Given the description of an element on the screen output the (x, y) to click on. 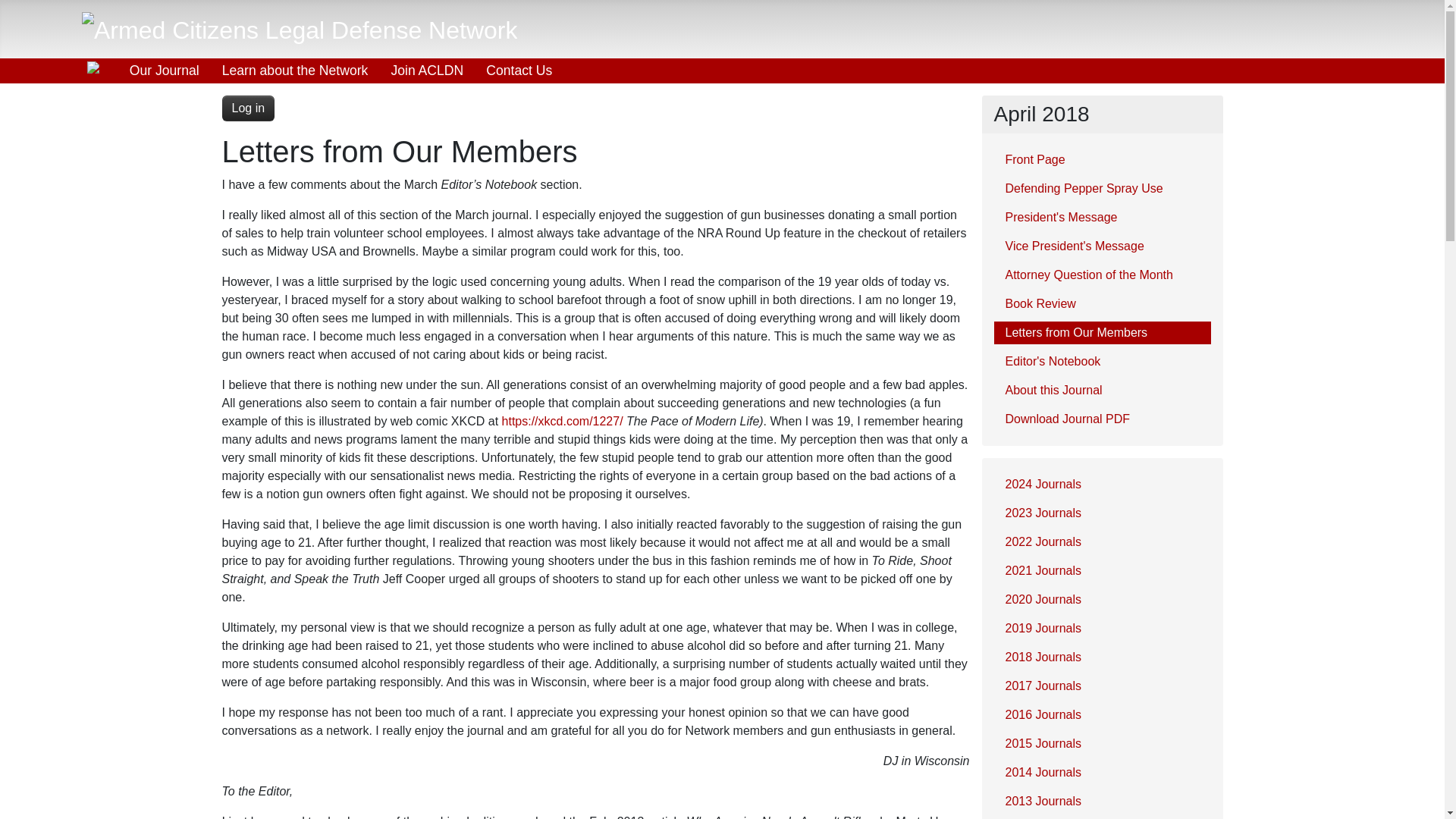
2016 Journals (1100, 714)
President's Message (1100, 217)
Log in (248, 108)
2021 Journals (1100, 570)
Learn about the Network (295, 70)
2014 Journals (1100, 772)
Editor's Notebook (1100, 361)
Our Journal (164, 70)
Join ACLDN (426, 70)
Download Journal PDF (1100, 418)
2017 Journals (1100, 685)
Vice President's Message (1100, 246)
2024 Journals (1100, 484)
2018 Journals (1100, 657)
2019 Journals (1100, 628)
